Given the description of an element on the screen output the (x, y) to click on. 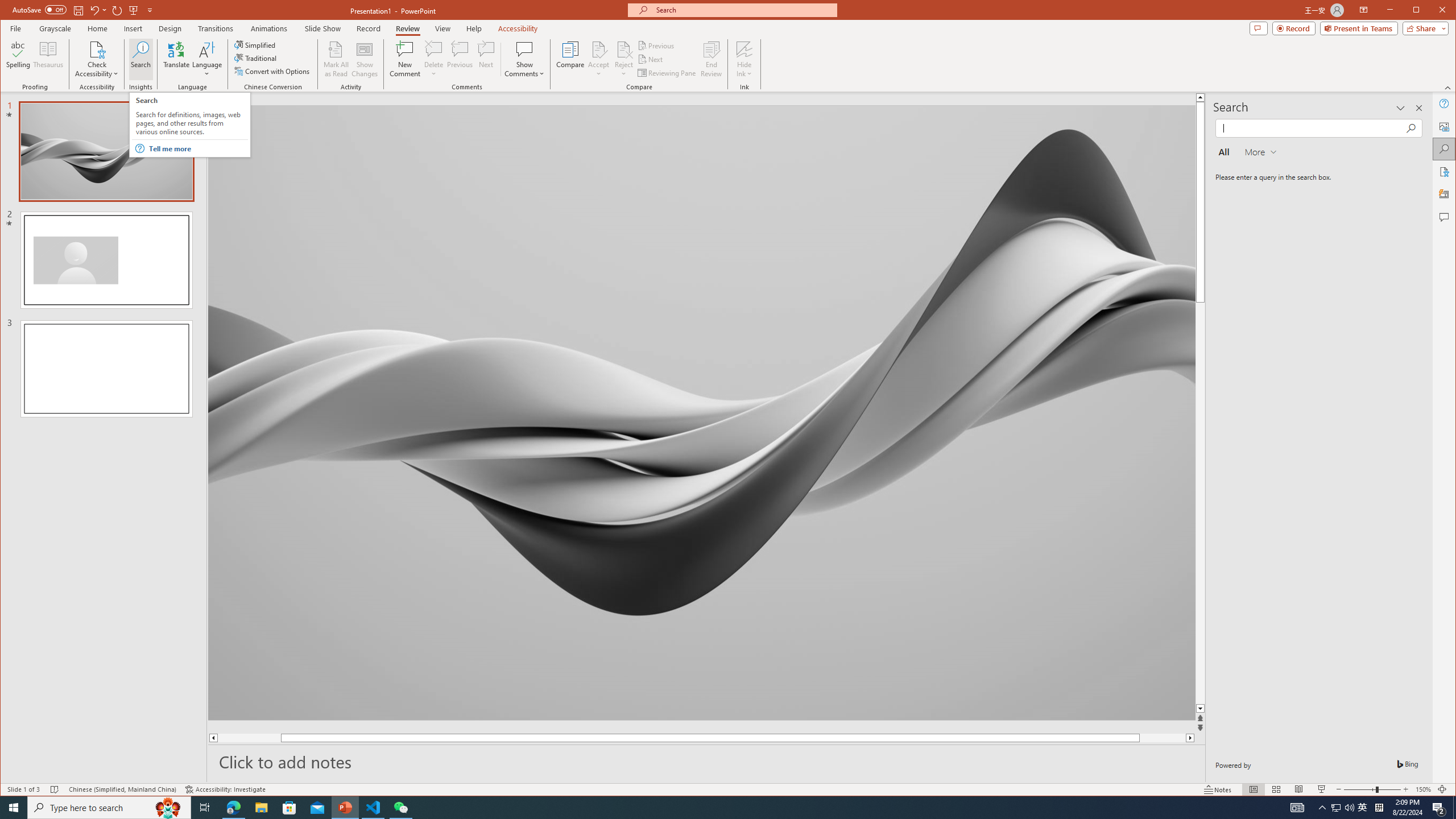
Microsoft Store (289, 807)
Tell me more (197, 148)
Q2790: 100% (1349, 807)
Search (1444, 148)
Show Changes (365, 59)
AutomationID: 4105 (1297, 807)
Convert with Options... (272, 70)
Reject Change (623, 48)
